Given the description of an element on the screen output the (x, y) to click on. 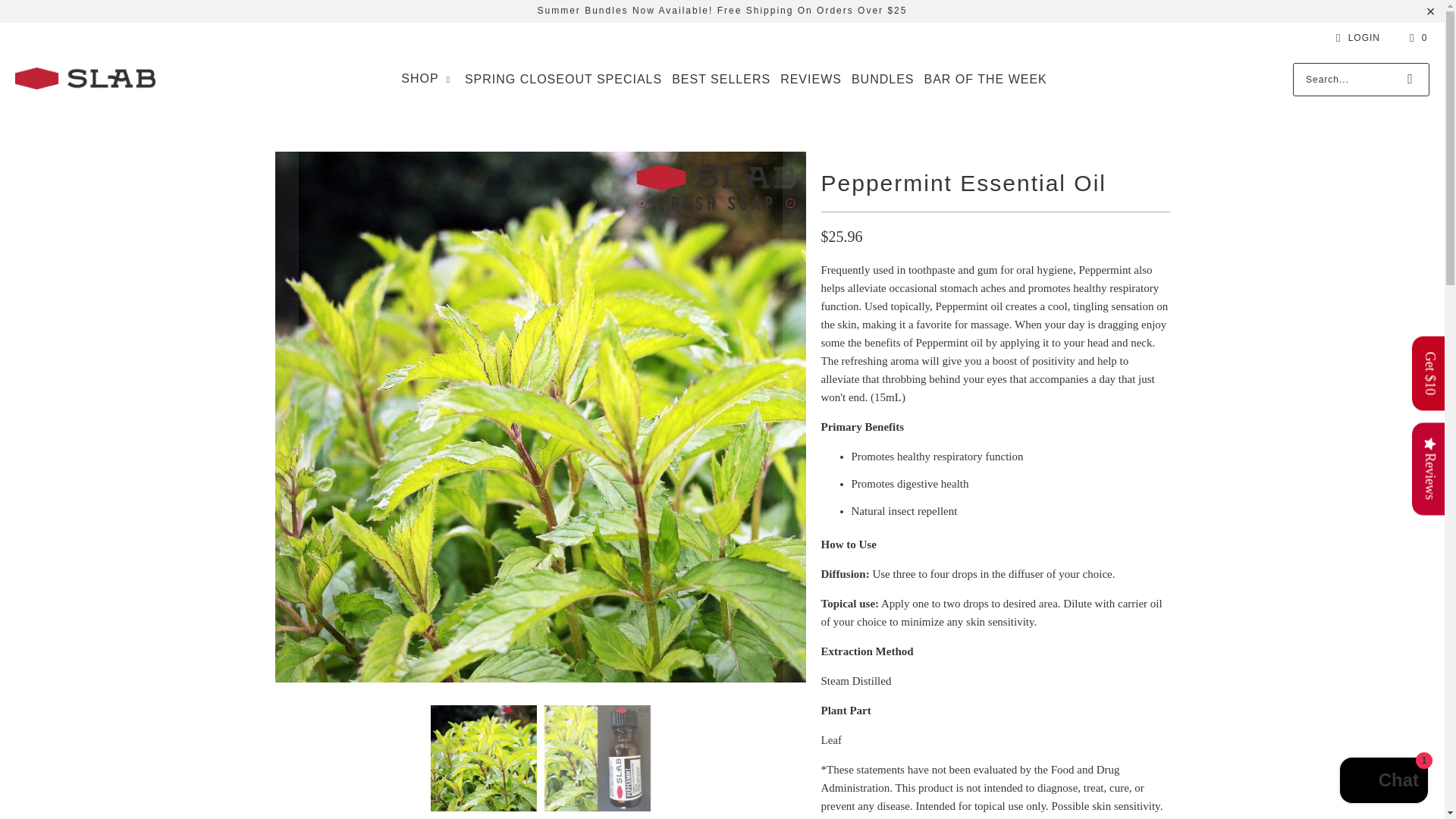
My Account  (1355, 37)
SLAB Soap (84, 79)
